Given the description of an element on the screen output the (x, y) to click on. 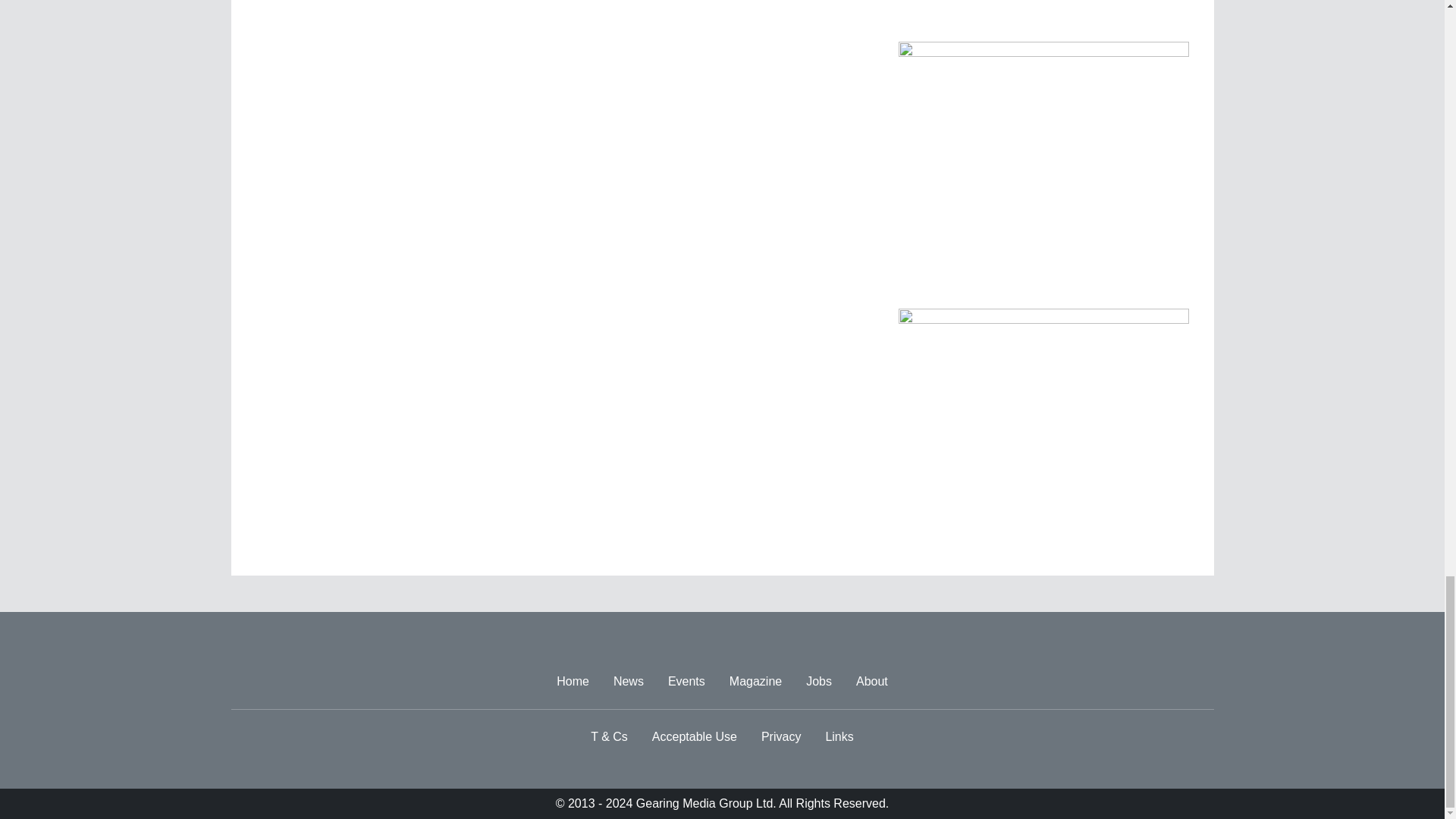
Privacy (780, 736)
Home (572, 681)
Links (838, 736)
Magazine (755, 681)
Events (686, 681)
News (628, 681)
Jobs (818, 681)
About (871, 681)
Acceptable Use (694, 736)
